Given the description of an element on the screen output the (x, y) to click on. 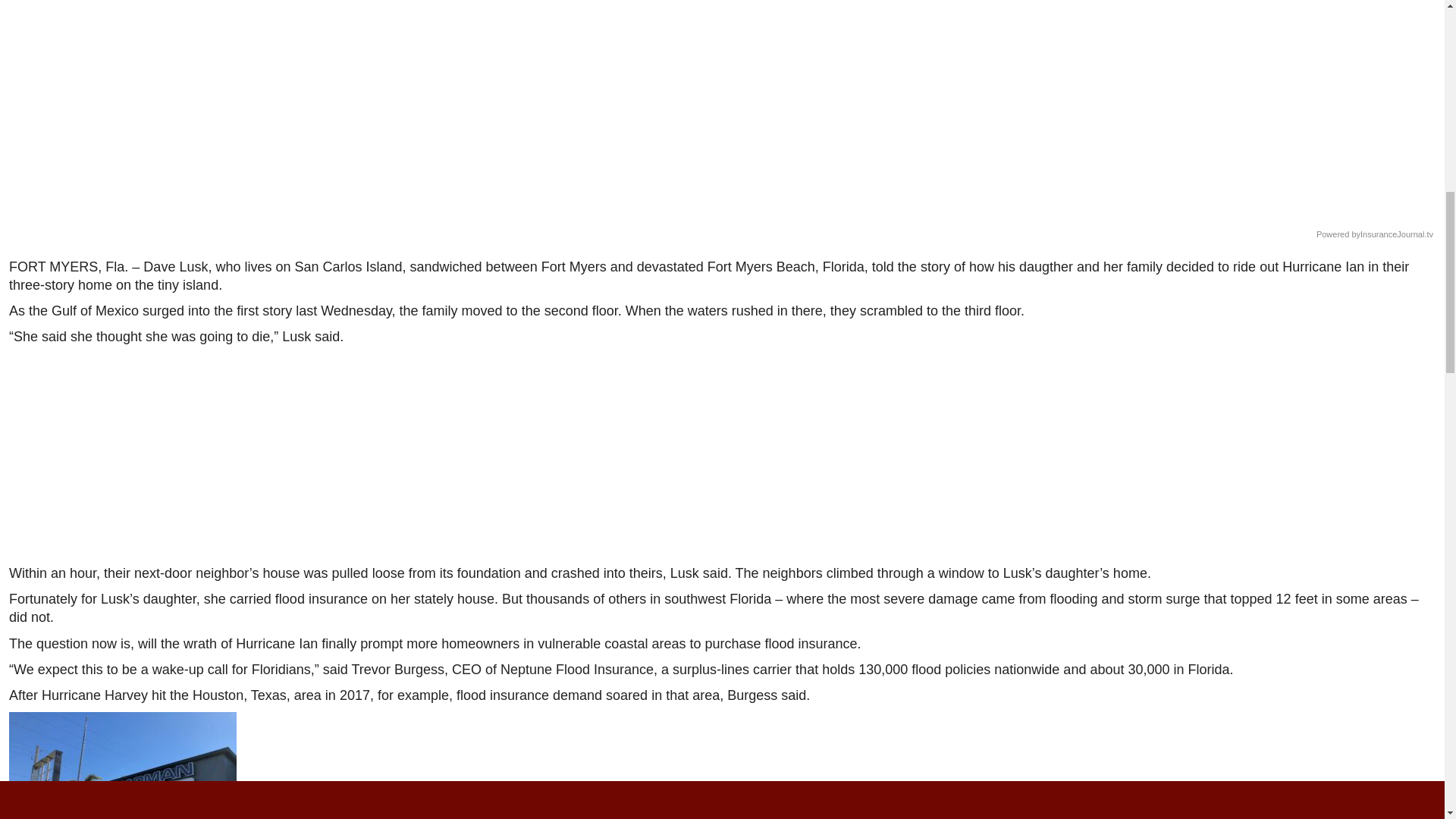
InsuranceJournal.tv (1395, 235)
